Given the description of an element on the screen output the (x, y) to click on. 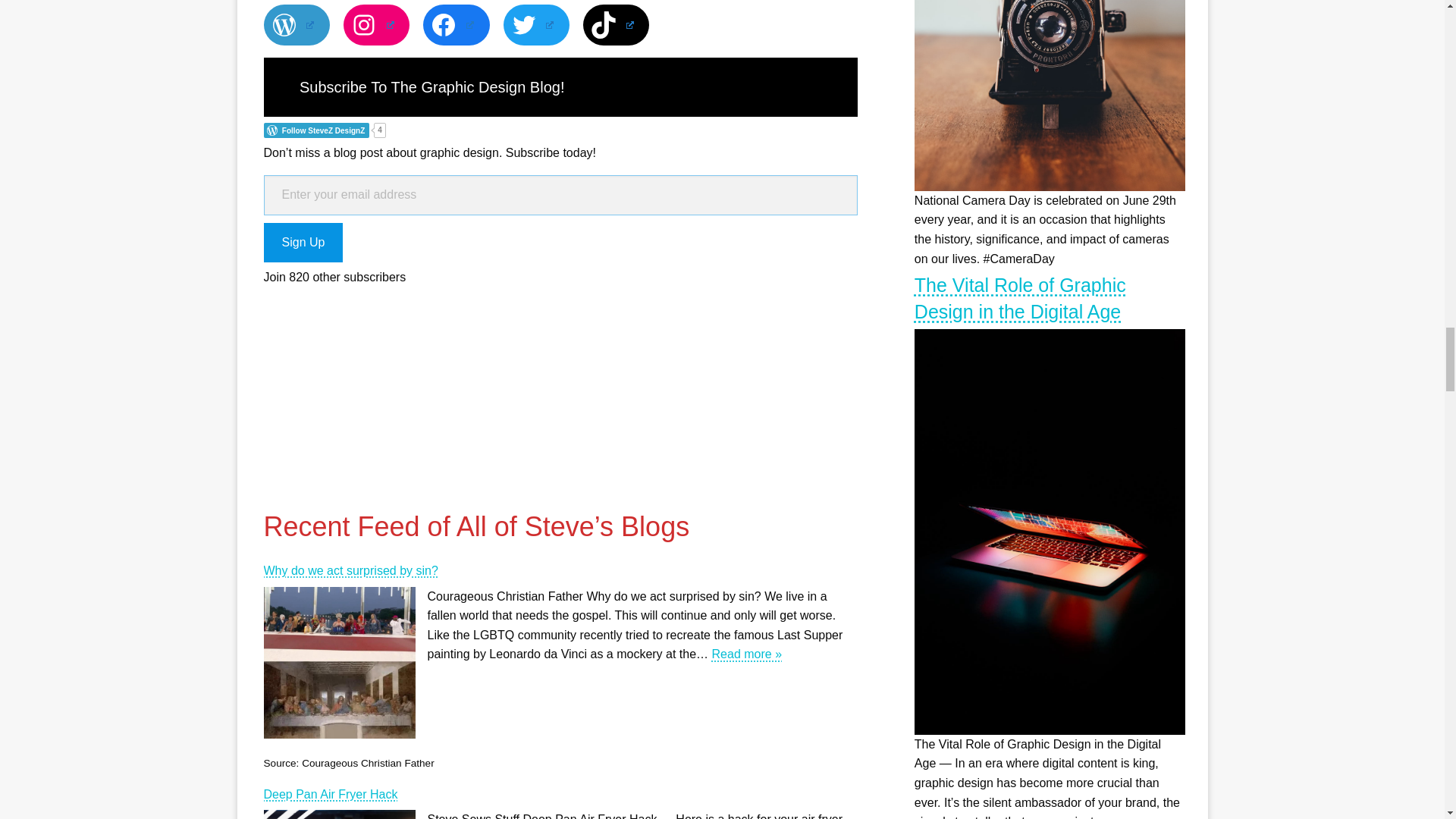
TikTok (616, 24)
WordPress (296, 24)
Sign Up (303, 242)
Facebook (456, 24)
Please fill in this field. (560, 195)
Instagram (376, 24)
Why do we act surprised by sin? (560, 570)
Twitter (536, 24)
Follow Button (560, 130)
Deep Pan Air Fryer Hack (560, 794)
